Given the description of an element on the screen output the (x, y) to click on. 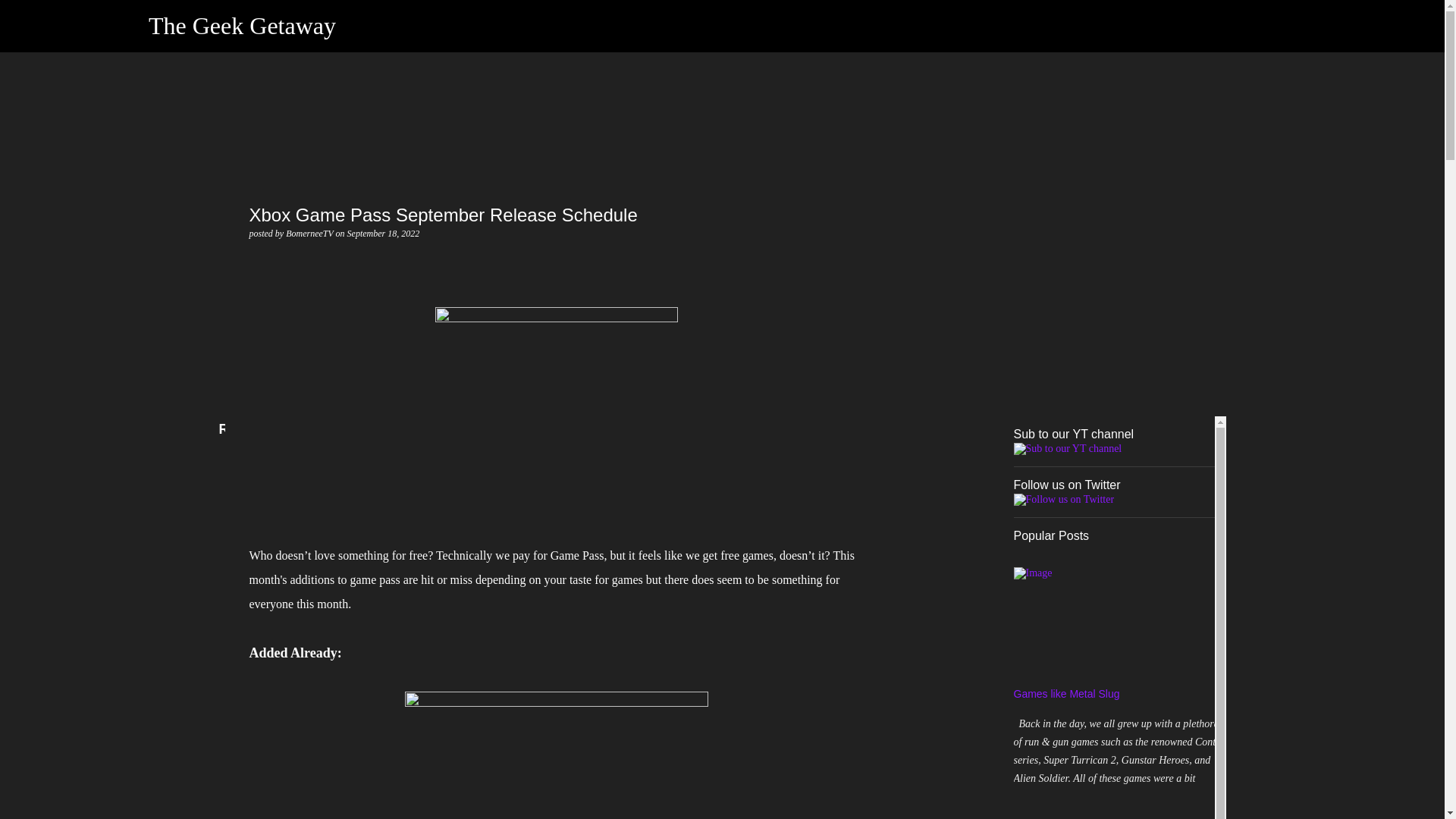
author profile (309, 233)
permanent link (383, 233)
The Geek Getaway (242, 25)
Games like Metal Slug (1066, 693)
September 18, 2022 (383, 233)
BomerneeTV (309, 233)
